Given the description of an element on the screen output the (x, y) to click on. 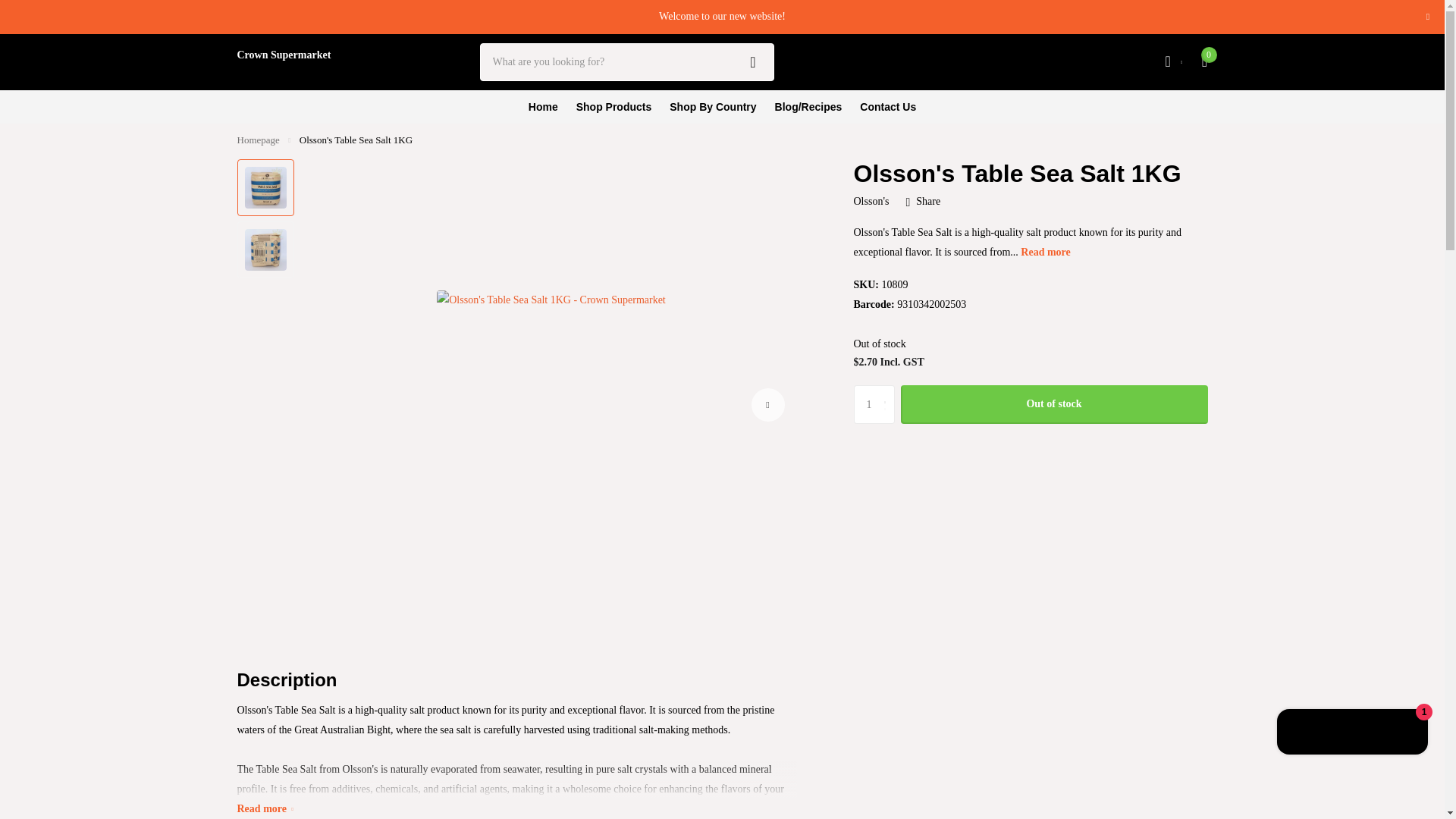
Zoeken (753, 62)
Shopify online store chat (1352, 733)
Shop Products (614, 106)
Home (257, 139)
1 (874, 403)
Close (1427, 17)
